Given the description of an element on the screen output the (x, y) to click on. 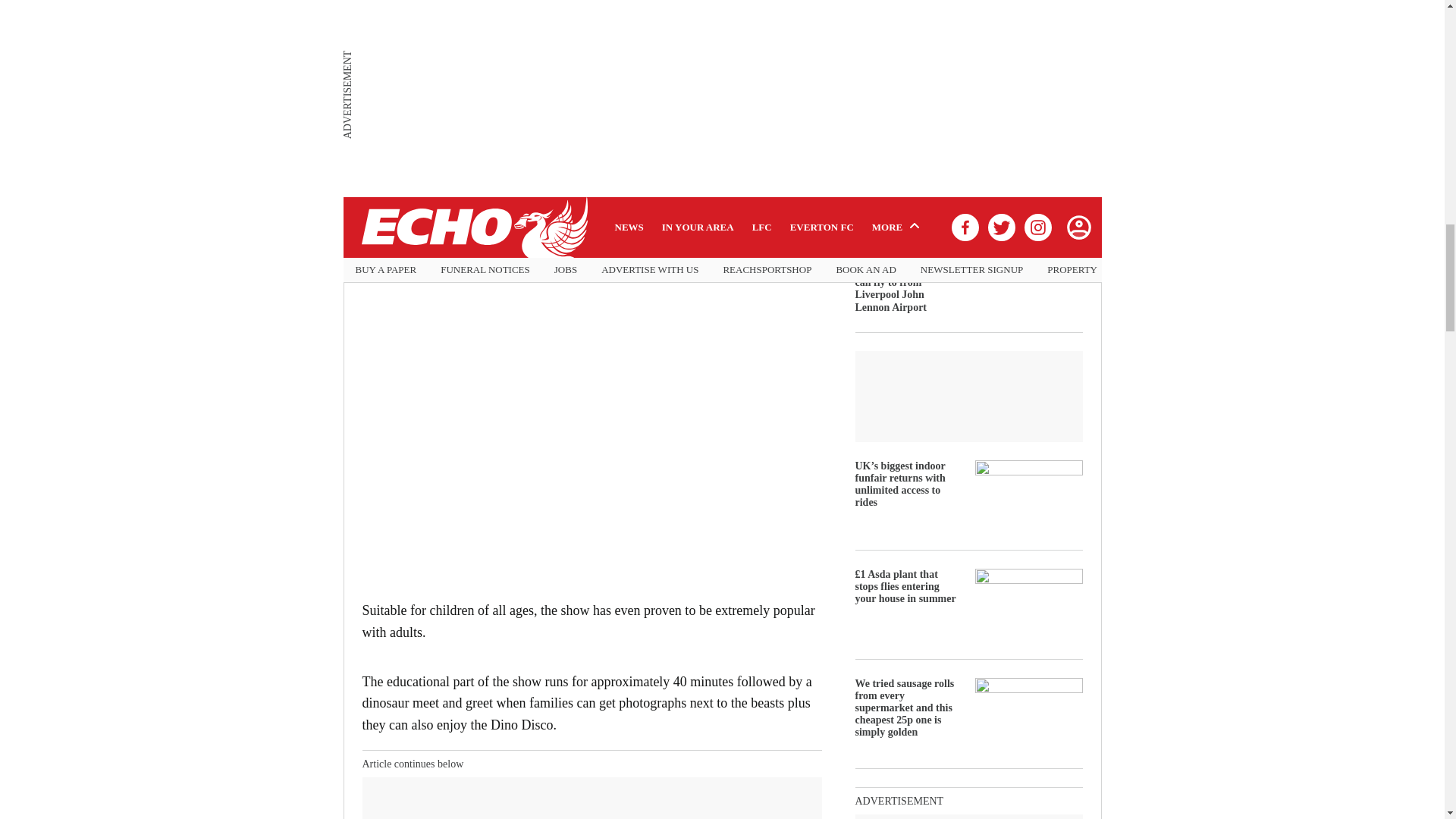
visit InYourArea (772, 223)
More info (721, 179)
Subscribe (771, 132)
